Given the description of an element on the screen output the (x, y) to click on. 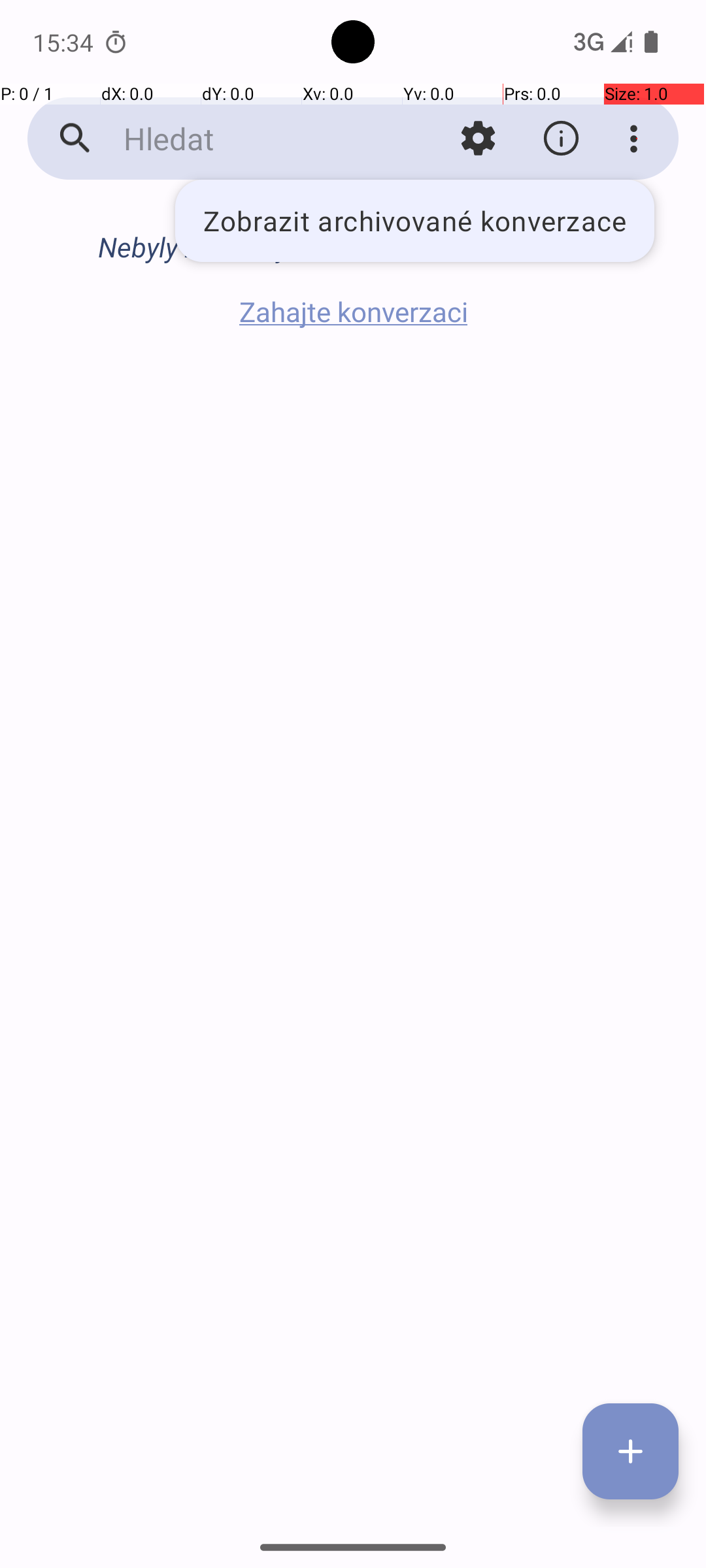
Zobrazit archivované konverzace Element type: android.widget.TextView (414, 220)
